Given the description of an element on the screen output the (x, y) to click on. 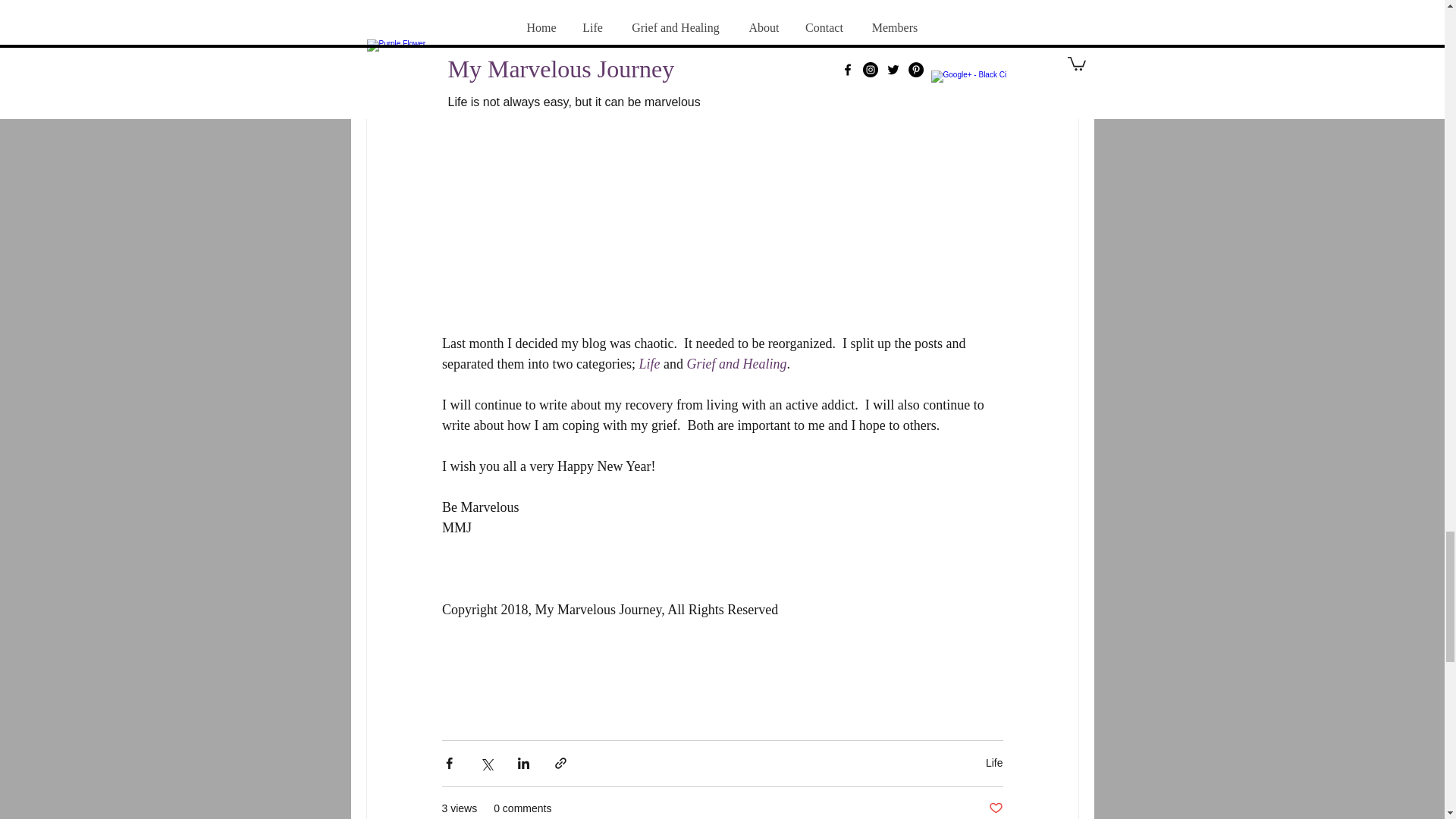
Post not marked as liked (995, 808)
Grief and Healing (735, 363)
Life (994, 762)
Life  (651, 363)
